Given the description of an element on the screen output the (x, y) to click on. 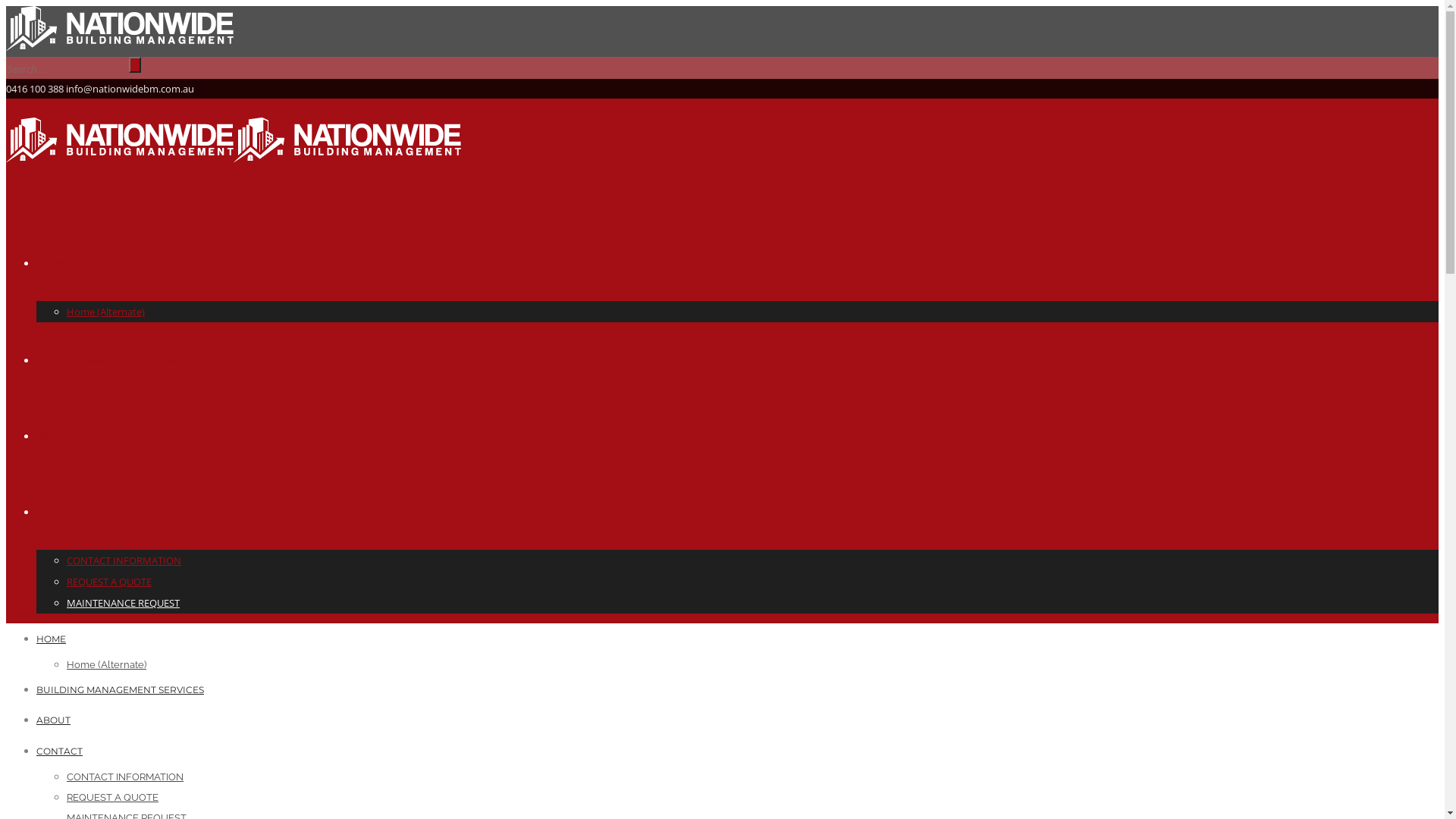
HOME Element type: text (50, 262)
Home (Alternate) Element type: text (105, 311)
CONTACT INFORMATION Element type: text (124, 776)
REQUEST A QUOTE Element type: text (108, 581)
HOME Element type: text (50, 638)
CONTACT Element type: text (58, 511)
BUILDING MANAGEMENT SERVICES Element type: text (119, 689)
REQUEST A QUOTE Element type: text (112, 797)
ABOUT Element type: text (52, 435)
CONTACT INFORMATION Element type: text (123, 560)
CONTACT Element type: text (59, 750)
MAINTENANCE REQUEST Element type: text (122, 602)
ABOUT Element type: text (53, 719)
BUILDING MANAGEMENT SERVICES Element type: text (116, 360)
Home (Alternate) Element type: text (106, 664)
